Given the description of an element on the screen output the (x, y) to click on. 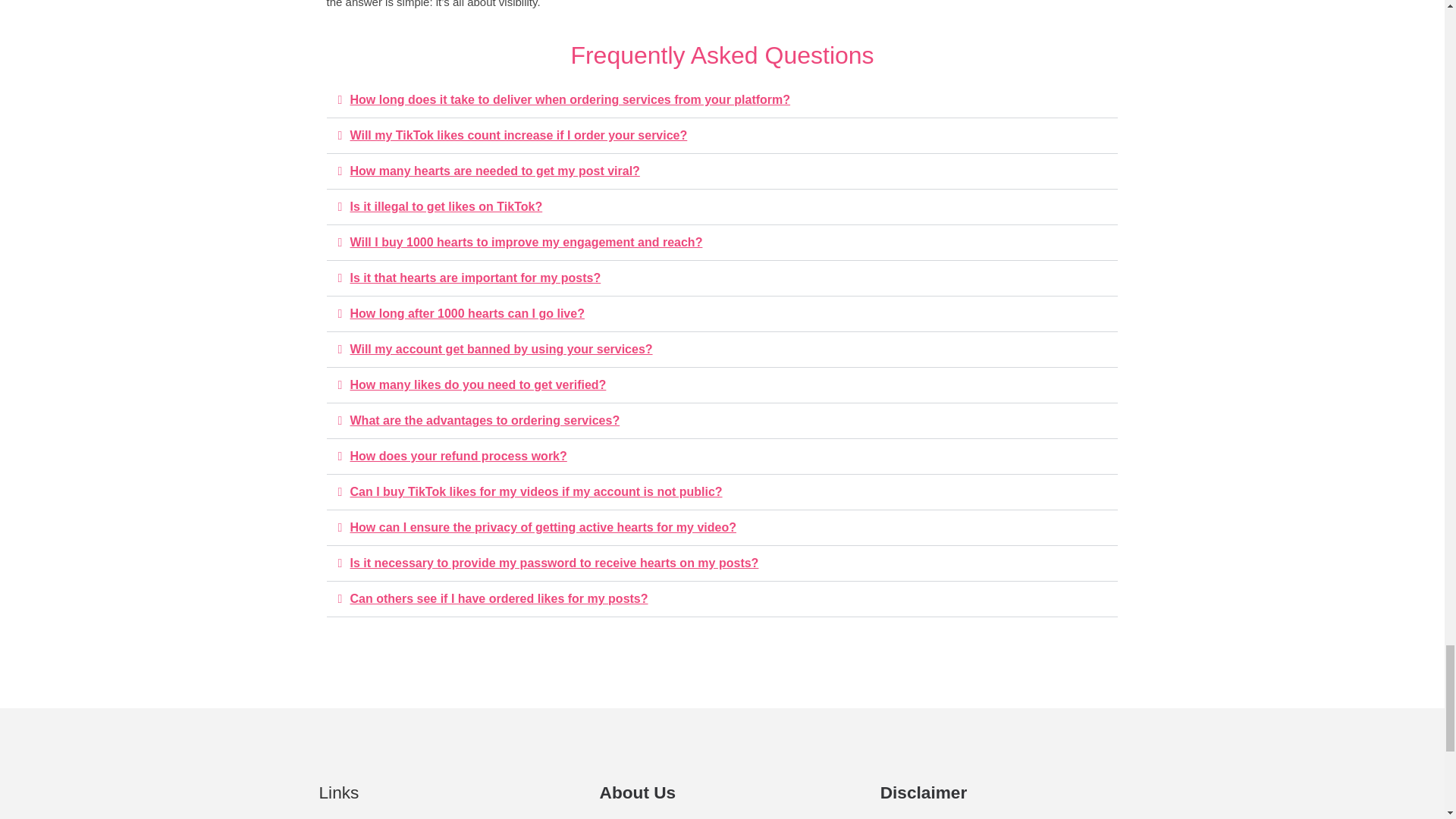
How many hearts are needed to get my post viral? (495, 170)
Will my TikTok likes count increase if I order your service? (518, 134)
